Given the description of an element on the screen output the (x, y) to click on. 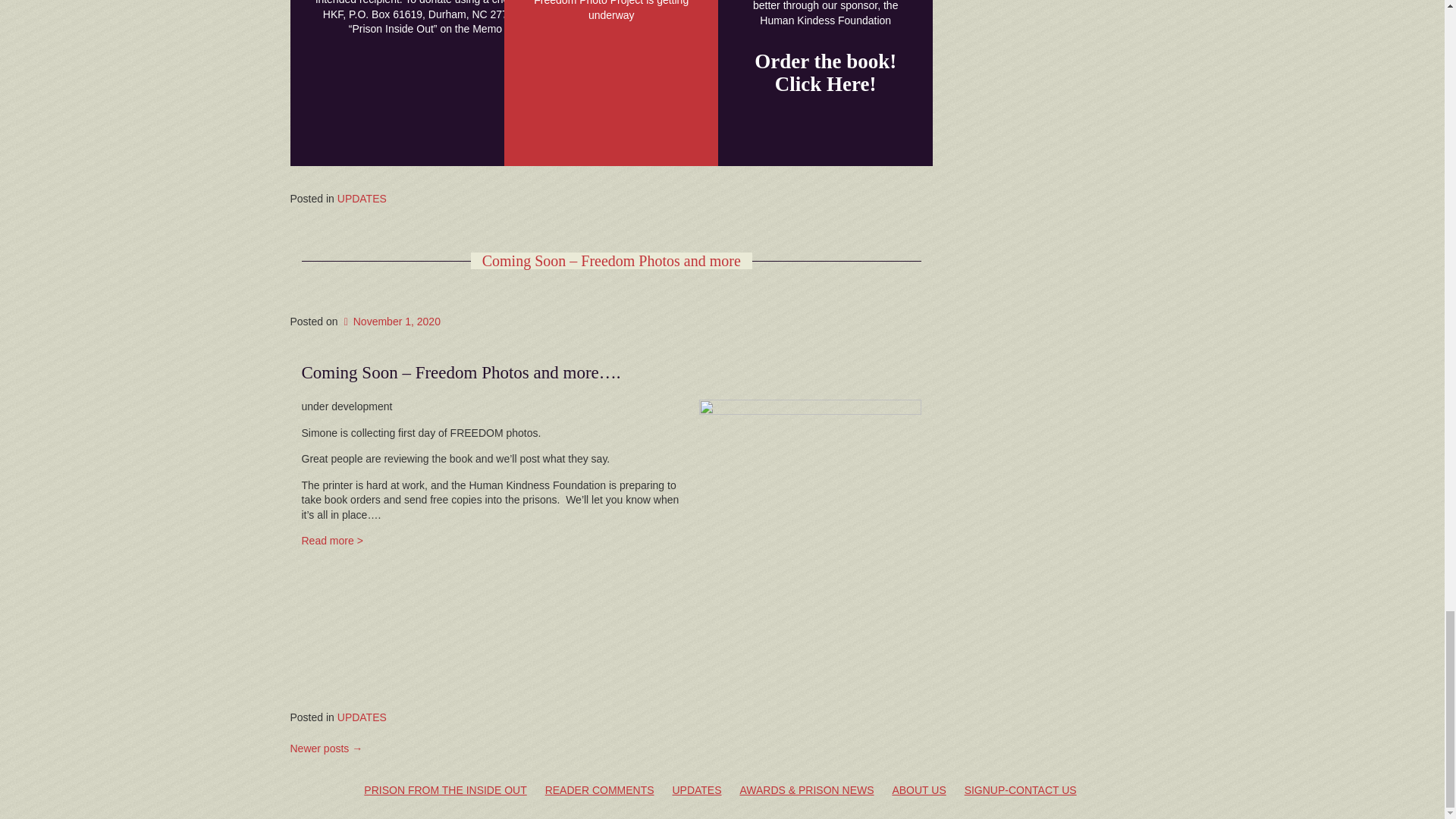
UPDATES (362, 717)
UPDATES (696, 790)
November 1, 2020 (390, 321)
Order the book! Click Here! (825, 72)
UPDATES (362, 198)
